Given the description of an element on the screen output the (x, y) to click on. 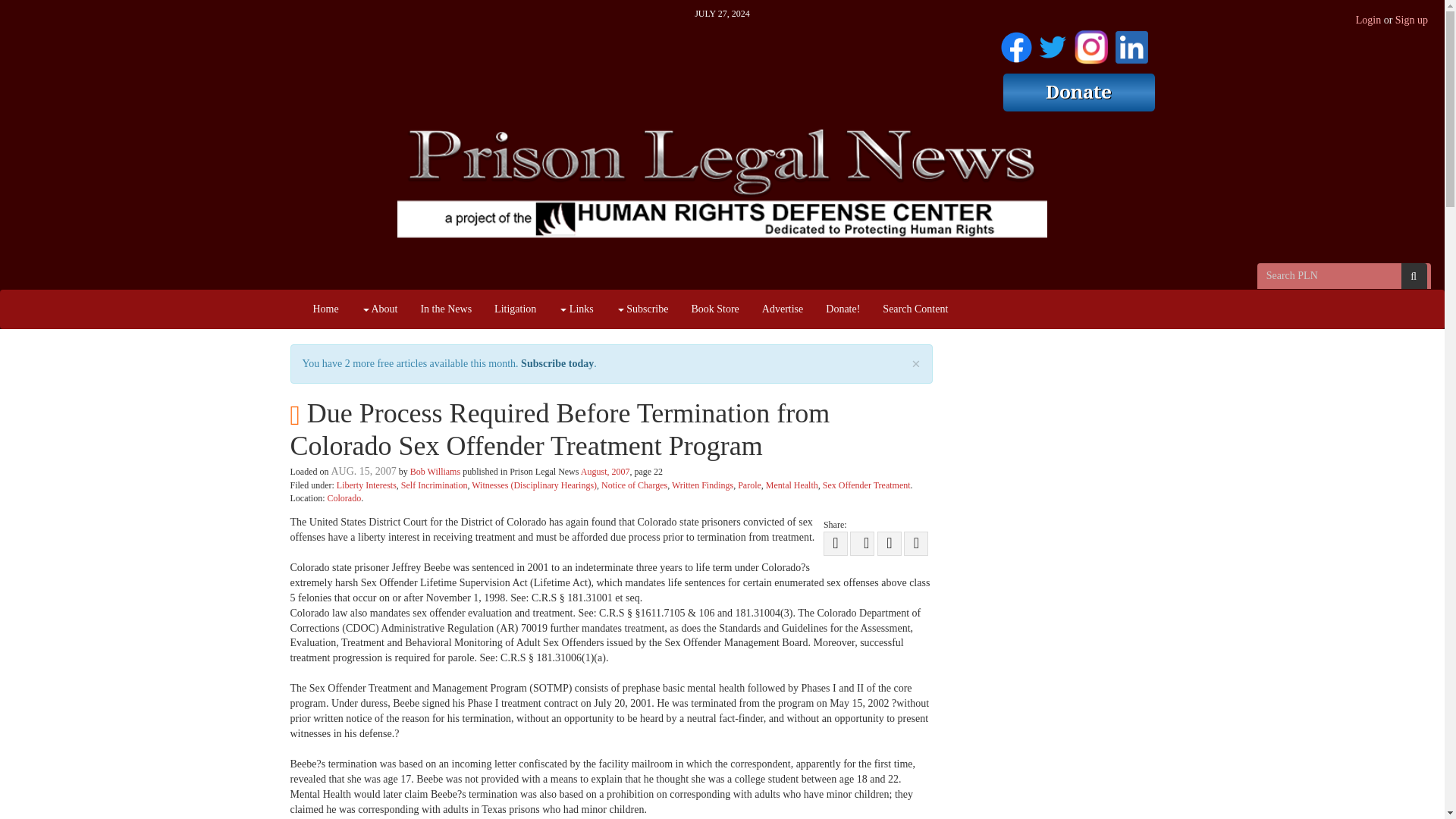
Search Content (914, 309)
Prison Legal News FaceBook Page (1016, 44)
HRDC Instagram Page (1091, 44)
Sign up (1411, 19)
Donate! (841, 309)
Search (1413, 275)
Home (325, 309)
Book Store (714, 309)
In the News (446, 309)
August, 2007 (605, 471)
Bob Williams (435, 471)
About (379, 309)
Subscribe (642, 309)
Litigation (515, 309)
Paul Wright's LinkedIn Page (1131, 44)
